Given the description of an element on the screen output the (x, y) to click on. 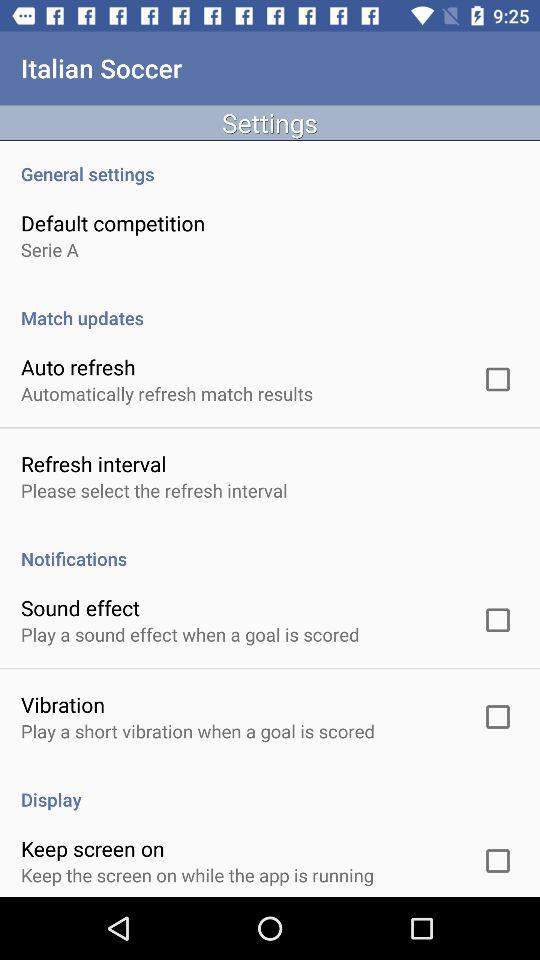
select the icon above the automatically refresh match app (78, 366)
